Given the description of an element on the screen output the (x, y) to click on. 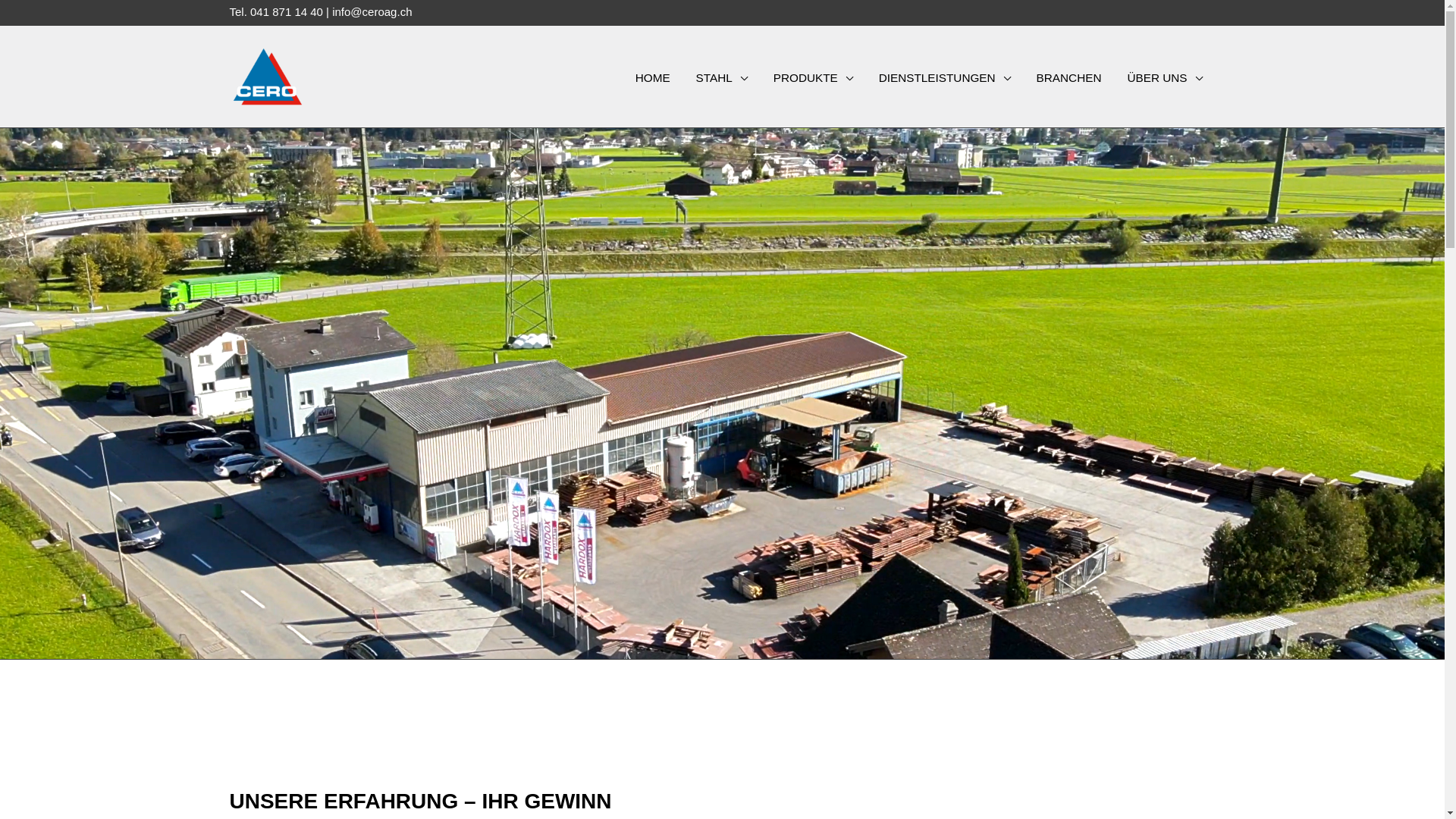
STAHL Element type: text (721, 78)
041 871 14 40 Element type: text (286, 11)
HOME Element type: text (652, 78)
PRODUKTE Element type: text (813, 78)
BRANCHEN Element type: text (1068, 78)
info@ceroag.ch Element type: text (371, 11)
DIENSTLEISTUNGEN Element type: text (944, 78)
